Given the description of an element on the screen output the (x, y) to click on. 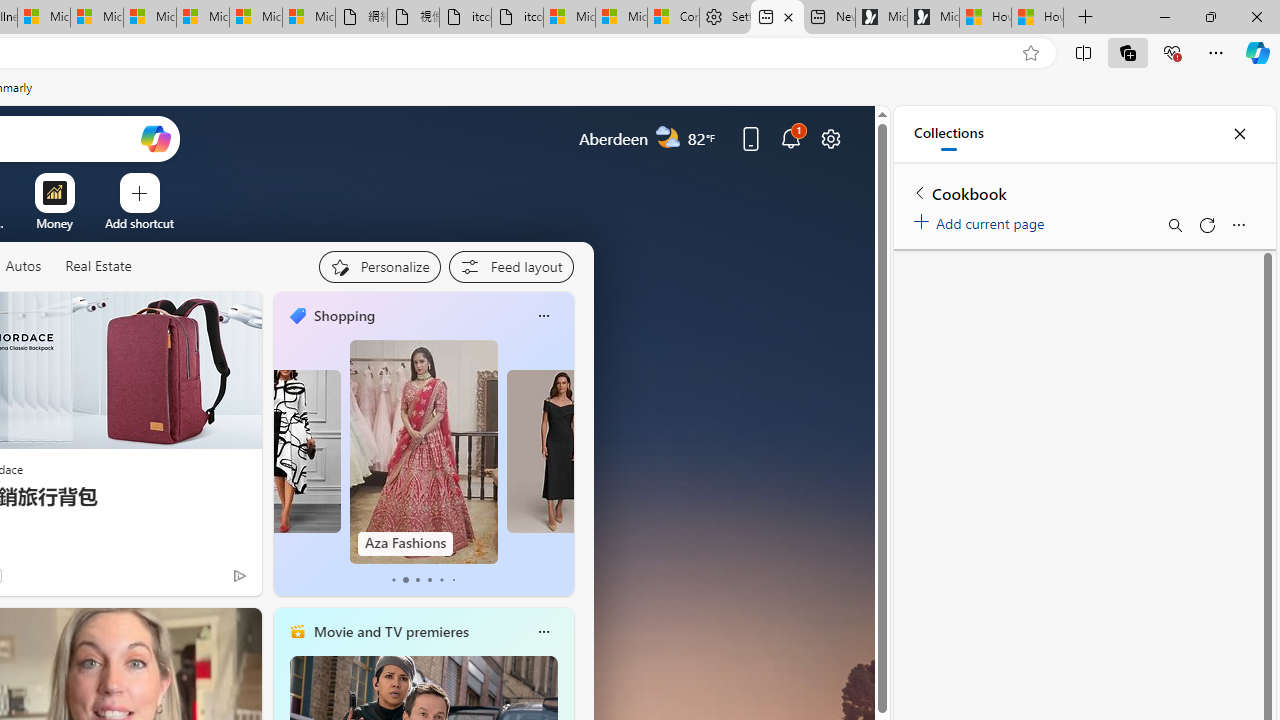
tab-4 (441, 579)
tab-5 (452, 579)
Partly cloudy (667, 137)
How to Use a TV as a Computer Monitor (1037, 17)
Feed settings (510, 266)
Class: icon-img (543, 632)
Notifications (790, 138)
tab-2 (416, 579)
